Given the description of an element on the screen output the (x, y) to click on. 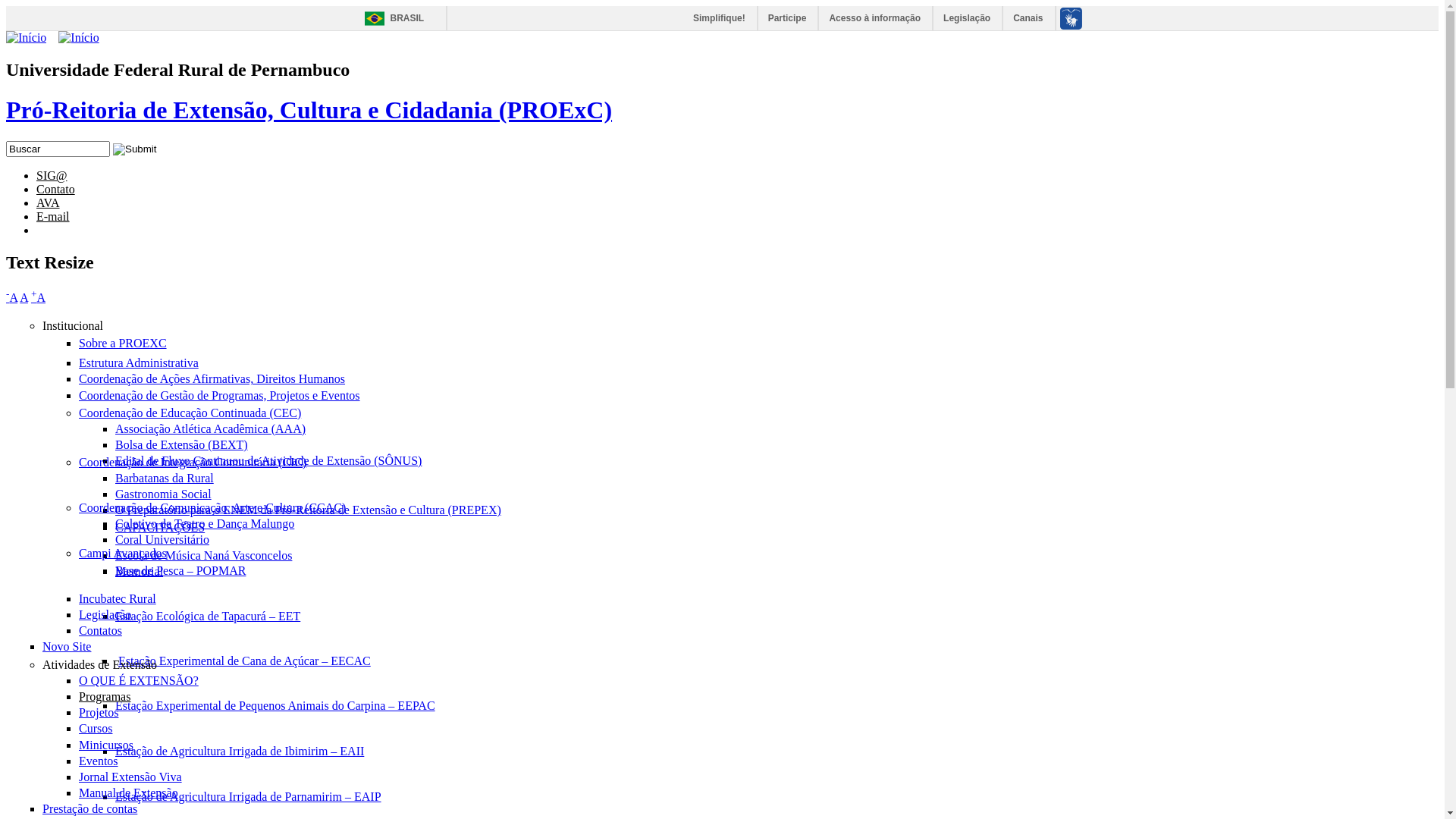
Contato Element type: text (55, 188)
Minicursos Element type: text (105, 744)
-A Element type: text (11, 297)
Programas Element type: text (104, 696)
Cursos Element type: text (95, 727)
Simplifique! Element type: text (719, 17)
Memorial Element type: text (139, 570)
A Element type: text (23, 297)
Toggle high contrast Element type: text (85, 223)
Incubatec Rural Element type: text (117, 598)
Novo Site Element type: text (66, 646)
Sobre a PROEXC Element type: text (122, 342)
E-mail Element type: text (52, 216)
Estrutura Administrativa Element type: text (138, 362)
BRASIL Element type: text (389, 18)
Contatos Element type: text (100, 630)
Projetos Element type: text (98, 712)
Canais Element type: text (1028, 17)
Gastronomia Social Element type: text (163, 493)
Participe Element type: text (788, 17)
AVA Element type: text (47, 202)
+A Element type: text (38, 297)
Barbatanas da Rural Element type: text (164, 477)
Eventos Element type: text (98, 760)
SIG@ Element type: text (51, 175)
